Given the description of an element on the screen output the (x, y) to click on. 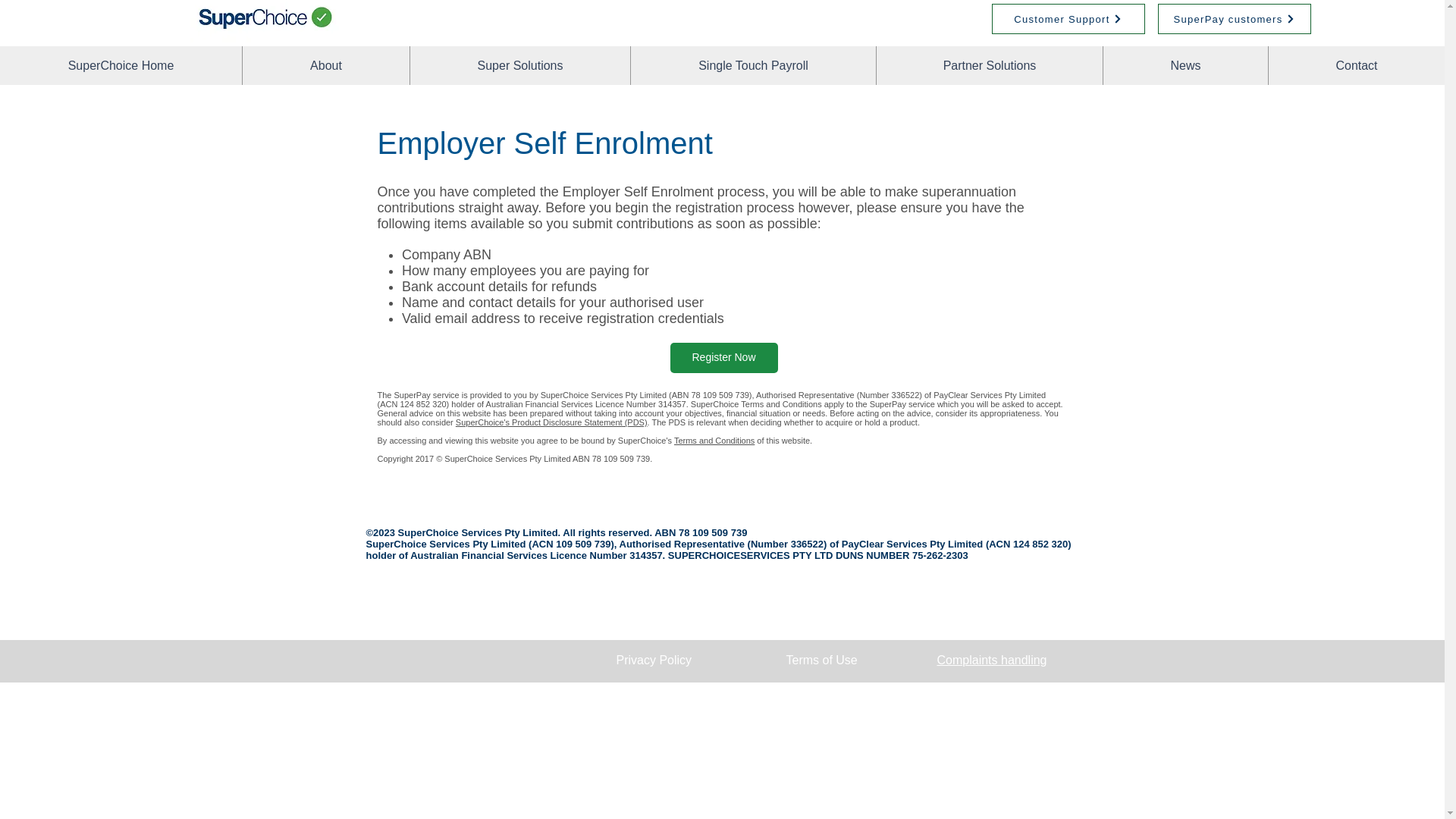
Super Solutions (519, 65)
SuperPay customers (1233, 19)
Terms of Use (821, 659)
Customer Support (1067, 19)
SuperChoice Home (120, 65)
Complaints handling (991, 659)
Register Now (723, 358)
News (1185, 65)
Single Touch Payroll (753, 65)
Partner Solutions (989, 65)
